Given the description of an element on the screen output the (x, y) to click on. 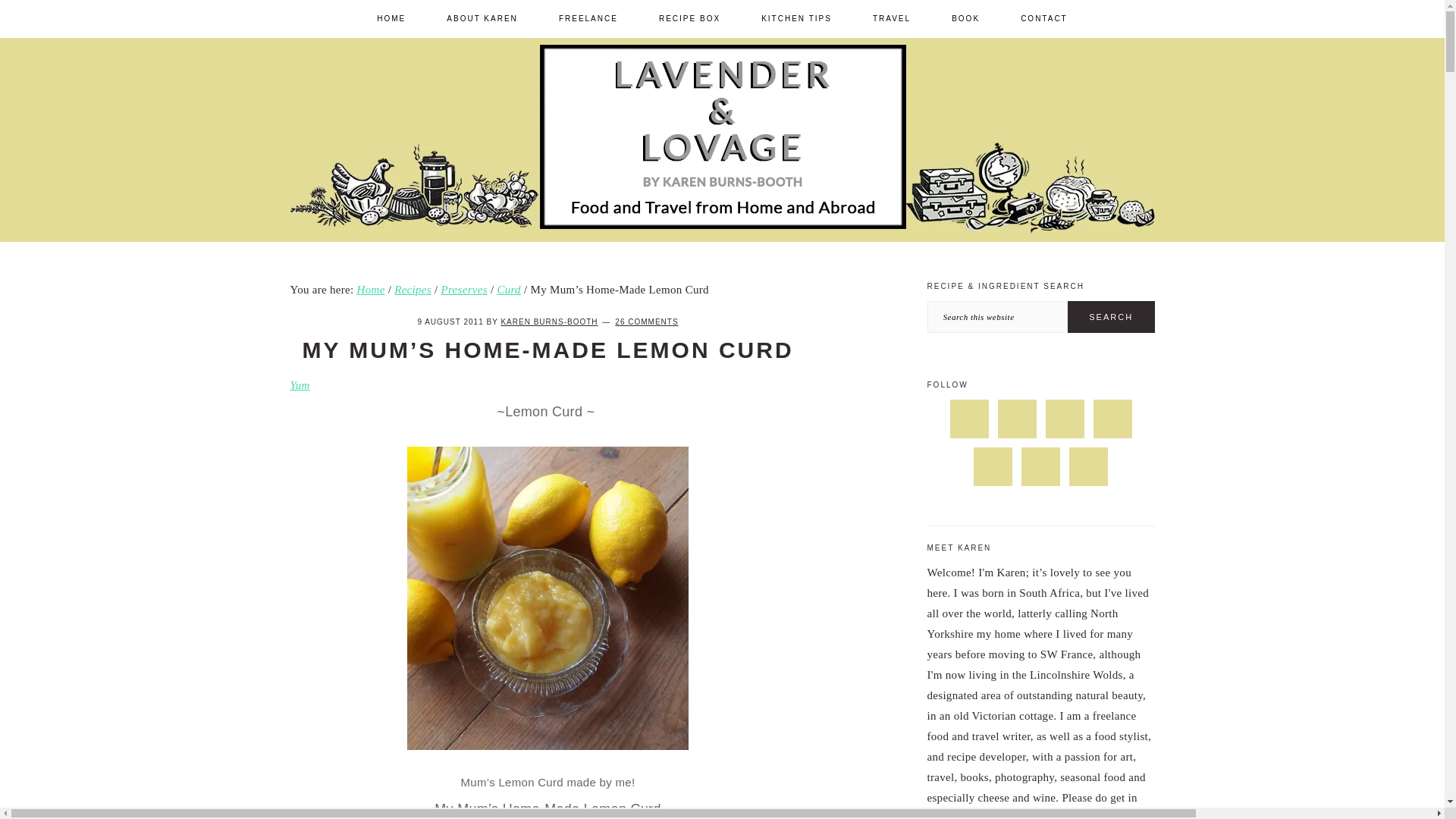
Search (1110, 316)
Preserves (464, 289)
HOME (391, 18)
BOOK (965, 18)
LAVENDER AND LOVAGE (1011, 254)
KITCHEN TIPS (796, 18)
TRAVEL (891, 18)
Recipes (412, 289)
Curd (508, 289)
Search (1110, 316)
Home (370, 289)
ABOUT KAREN (482, 18)
KAREN BURNS-BOOTH (548, 321)
RECIPE BOX (689, 18)
